Given the description of an element on the screen output the (x, y) to click on. 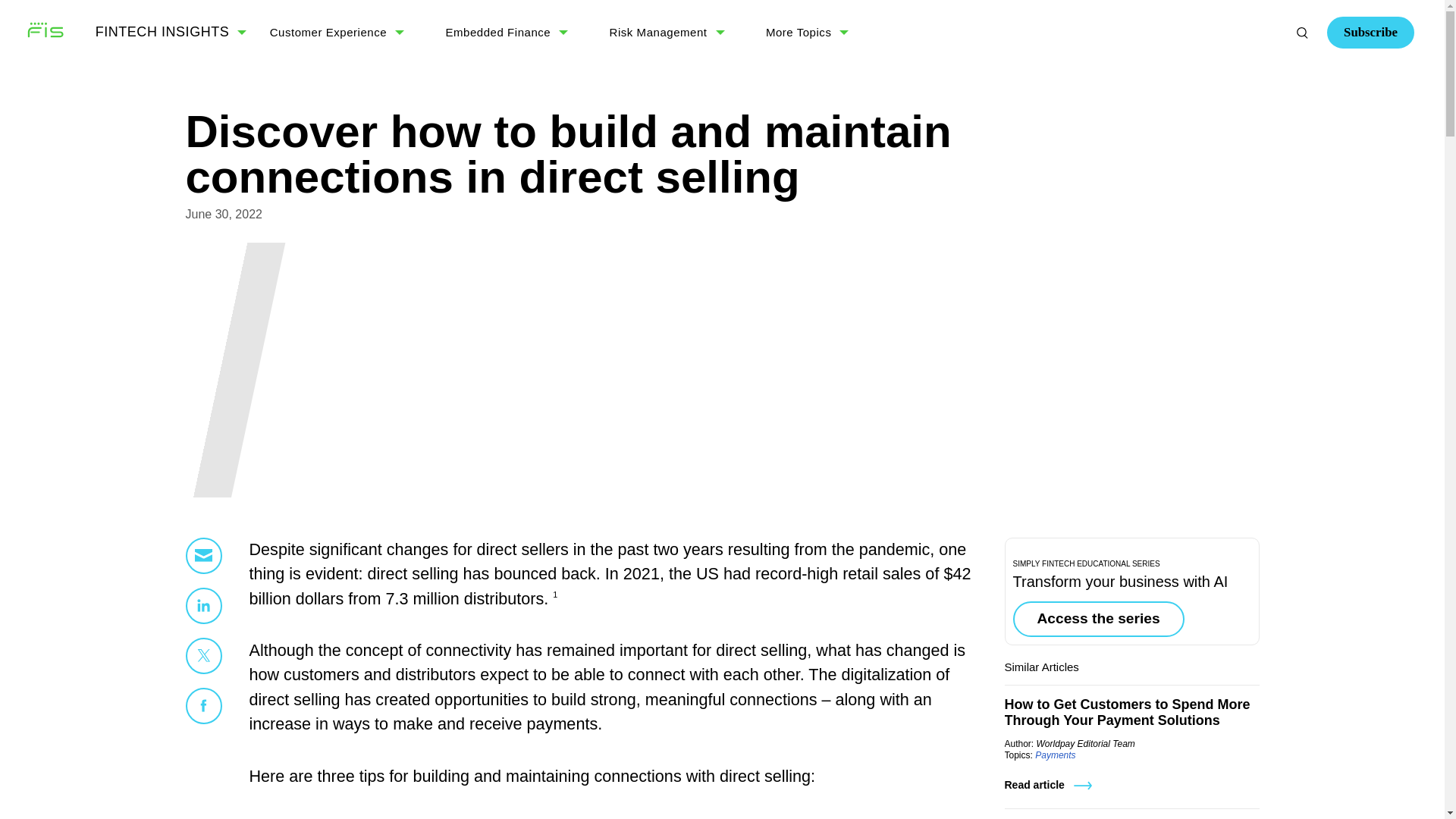
FINTECH INSIGHTS (163, 31)
Subscribe (1369, 32)
Customer Experience (328, 32)
Insight Search (1302, 32)
Subscribe (1217, 94)
Risk Management (658, 32)
More Topics (798, 32)
Embedded Finance (498, 32)
